Given the description of an element on the screen output the (x, y) to click on. 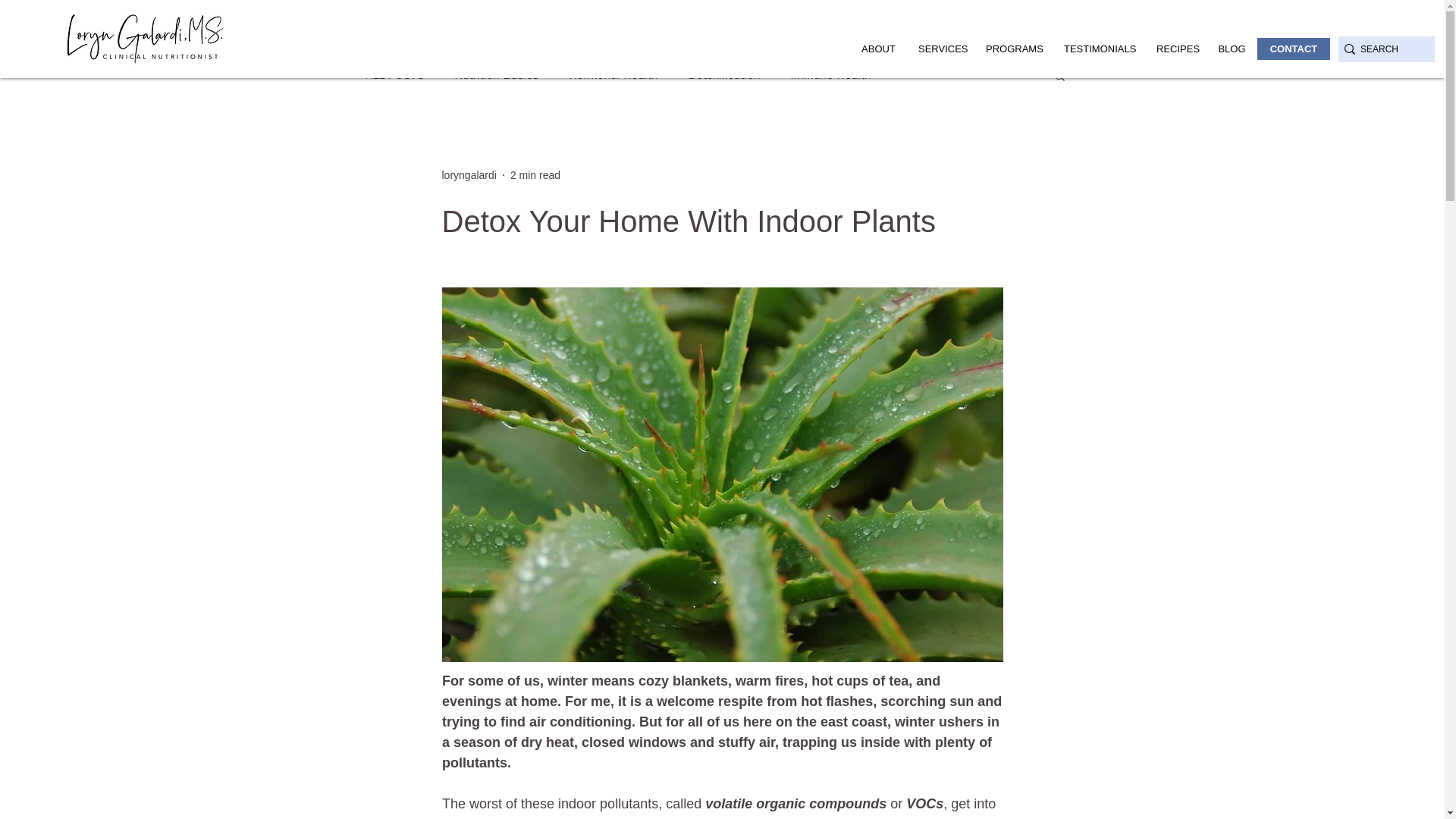
Detoxification (724, 74)
BLOG (1232, 49)
RECIPES (1175, 49)
PROGRAMS (1013, 49)
2 min read (535, 174)
Nutrition Basics (496, 74)
loryngalardi (468, 174)
Hormonal Health (613, 74)
ALL POSTS (394, 74)
TESTIMONIALS (1098, 49)
ABOUT (878, 49)
Immune Health (830, 74)
CONTACT (1293, 48)
SERVICES (940, 49)
